Given the description of an element on the screen output the (x, y) to click on. 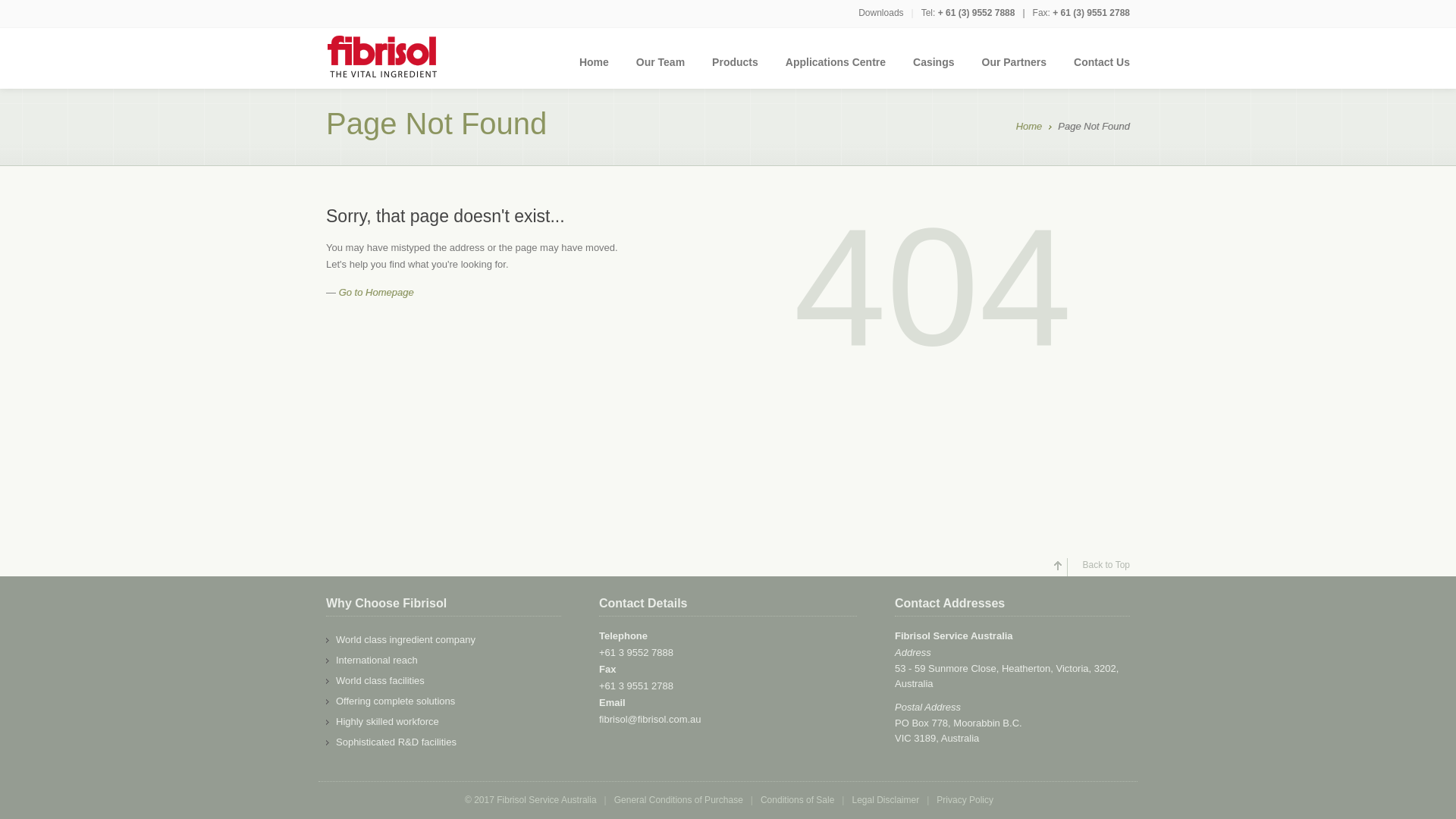
Our Team Element type: text (660, 69)
Products Element type: text (734, 69)
Go to Homepage Element type: text (376, 292)
Casings Element type: text (933, 69)
Contact Us Element type: text (1094, 69)
Privacy Policy Element type: text (964, 799)
Downloads Element type: text (880, 12)
General Conditions of Purchase Element type: text (678, 799)
Home Element type: text (1029, 127)
Our Partners Element type: text (1013, 69)
Legal Disclaimer Element type: text (885, 799)
Conditions of Sale Element type: text (797, 799)
Applications Centre Element type: text (835, 69)
fibrisol@fibrisol.com.au Element type: text (650, 718)
Home Element type: text (593, 69)
